Given the description of an element on the screen output the (x, y) to click on. 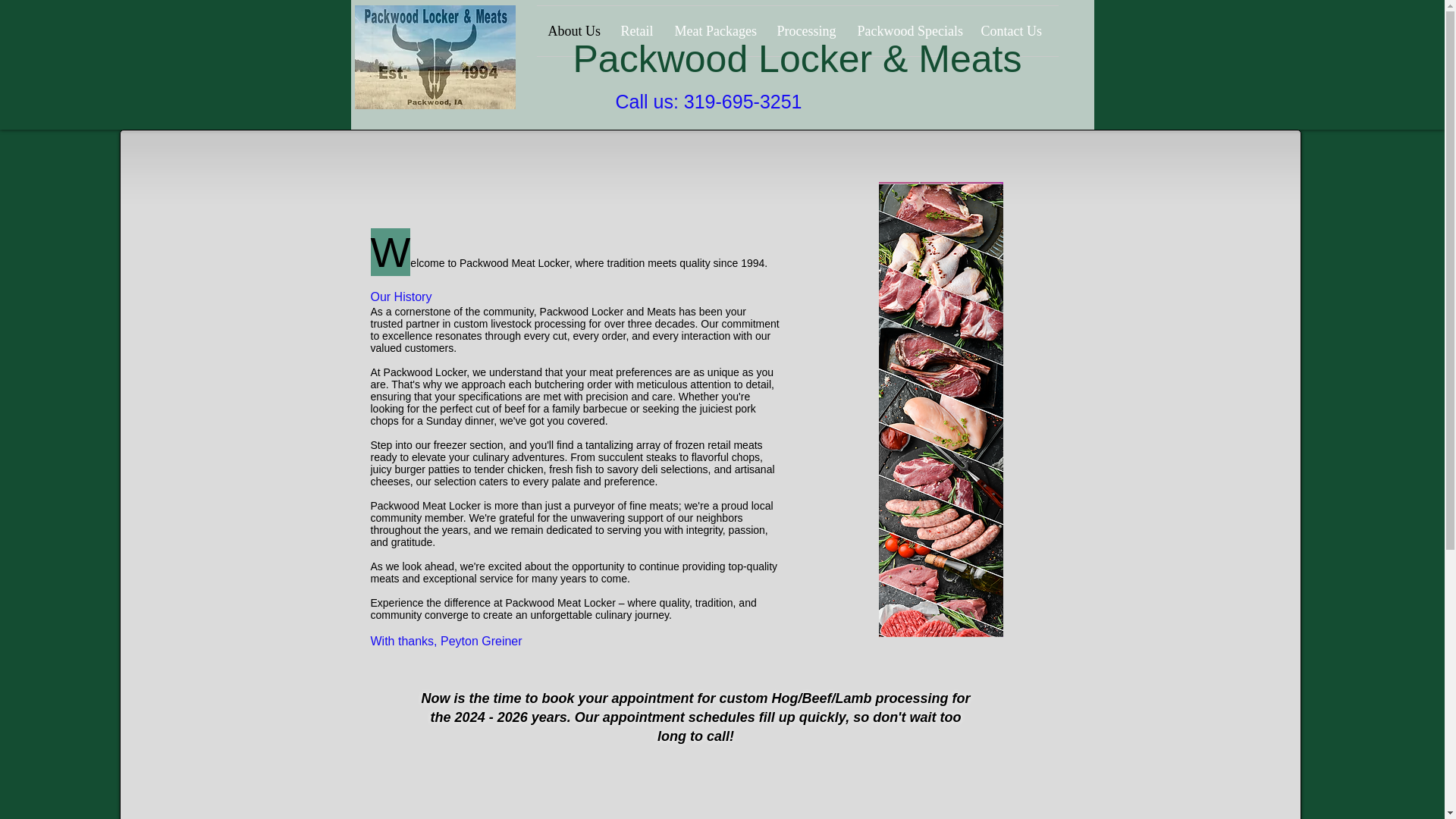
Contact Us (1010, 30)
Screen Shot 2022-06-05 at 1.26.06 PM.png (1105, 243)
Processing (805, 30)
About Us (573, 30)
Call us: 319-695-3251 (708, 101)
Meat Packages (713, 30)
Retail (636, 30)
Packwood Specials (907, 30)
